Given the description of an element on the screen output the (x, y) to click on. 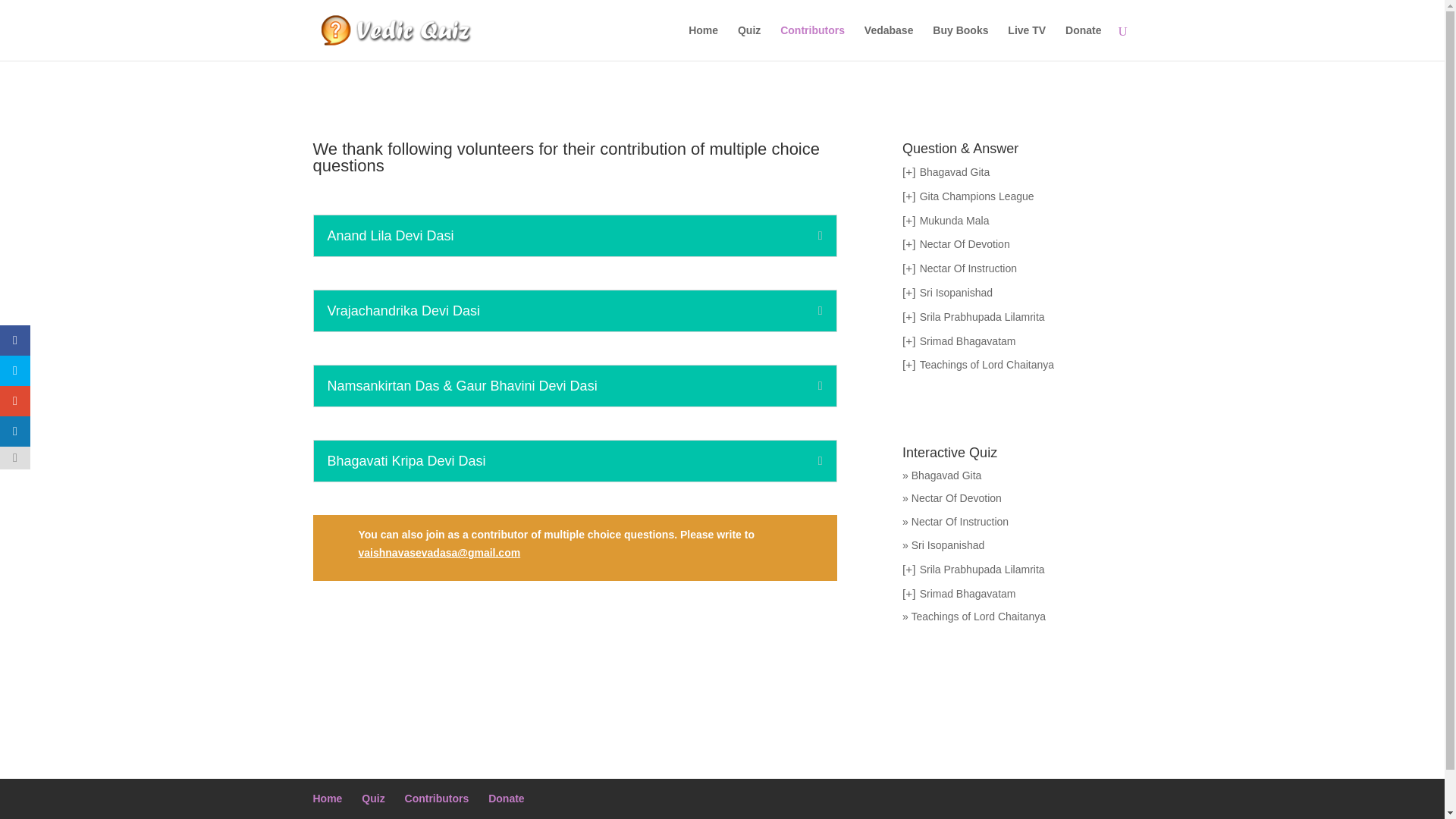
Contributors (812, 42)
Live TV (1026, 42)
Gita Champions League (976, 196)
Vedabase (889, 42)
Bhagavad Gita (955, 172)
Email (438, 552)
Buy Prabhupada Books (960, 42)
Donate (1082, 42)
Bhagavad Gita As It Is (955, 172)
Buy Books (960, 42)
